Given the description of an element on the screen output the (x, y) to click on. 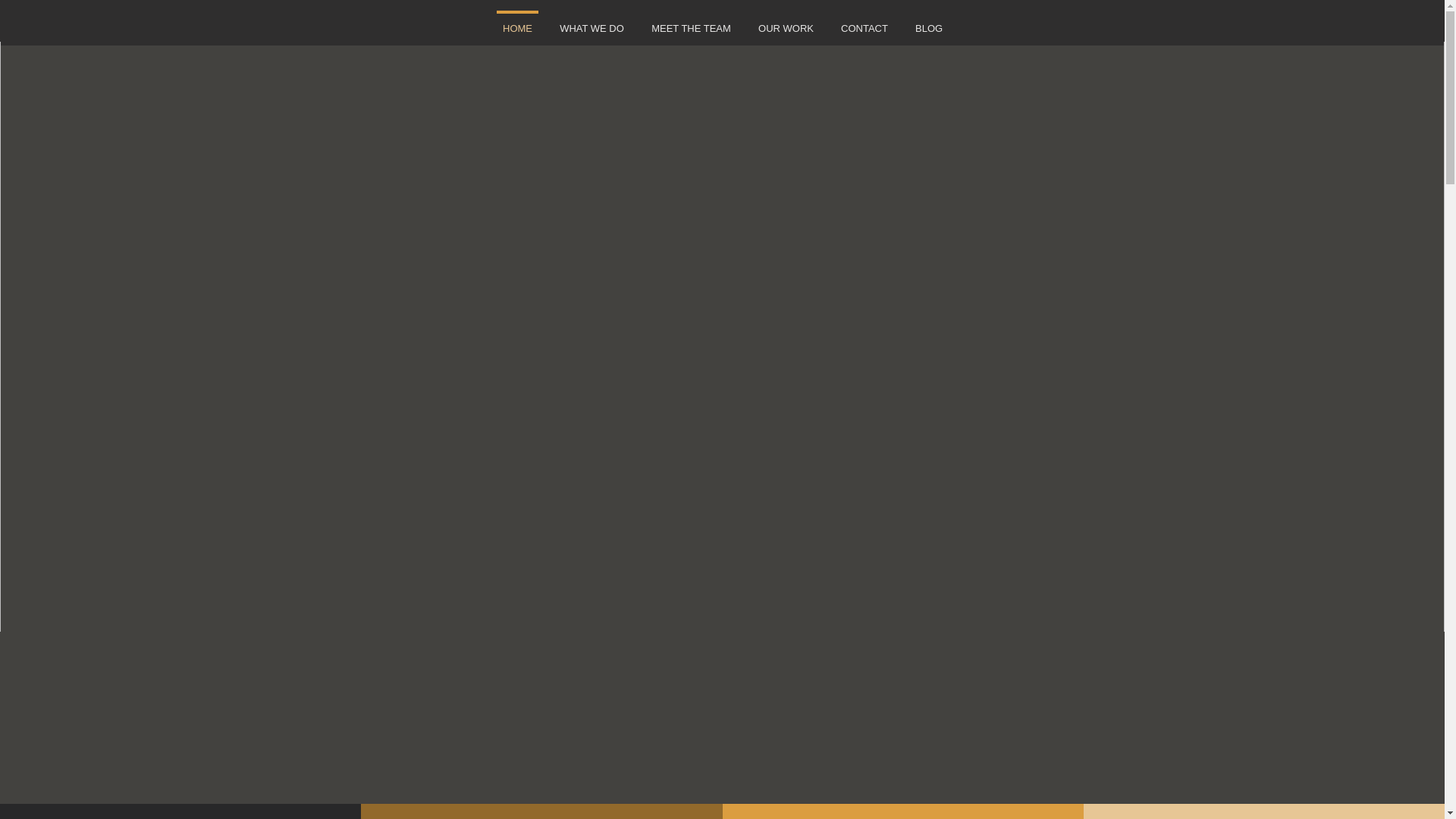
BLOG (928, 21)
OUR WORK (785, 21)
MEET THE TEAM (690, 21)
WHAT WE DO (591, 21)
CONTACT (864, 21)
HOME (517, 21)
